Given the description of an element on the screen output the (x, y) to click on. 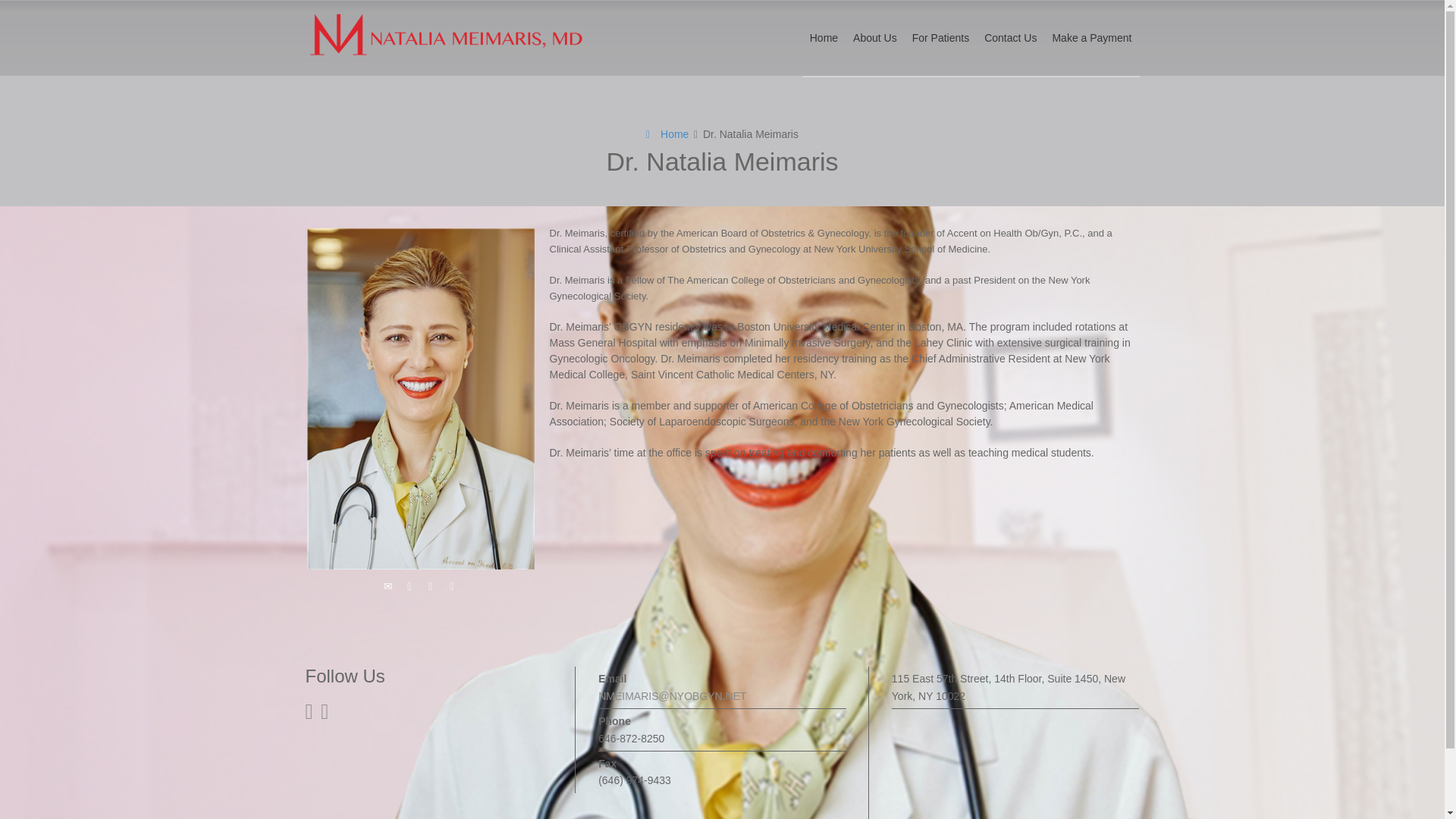
Linkedin (451, 586)
Home (667, 133)
For Patients (940, 38)
Make a Payment (1090, 38)
Facebook (430, 586)
Contact Us (1009, 38)
Email (387, 586)
Twitter (409, 586)
